Given the description of an element on the screen output the (x, y) to click on. 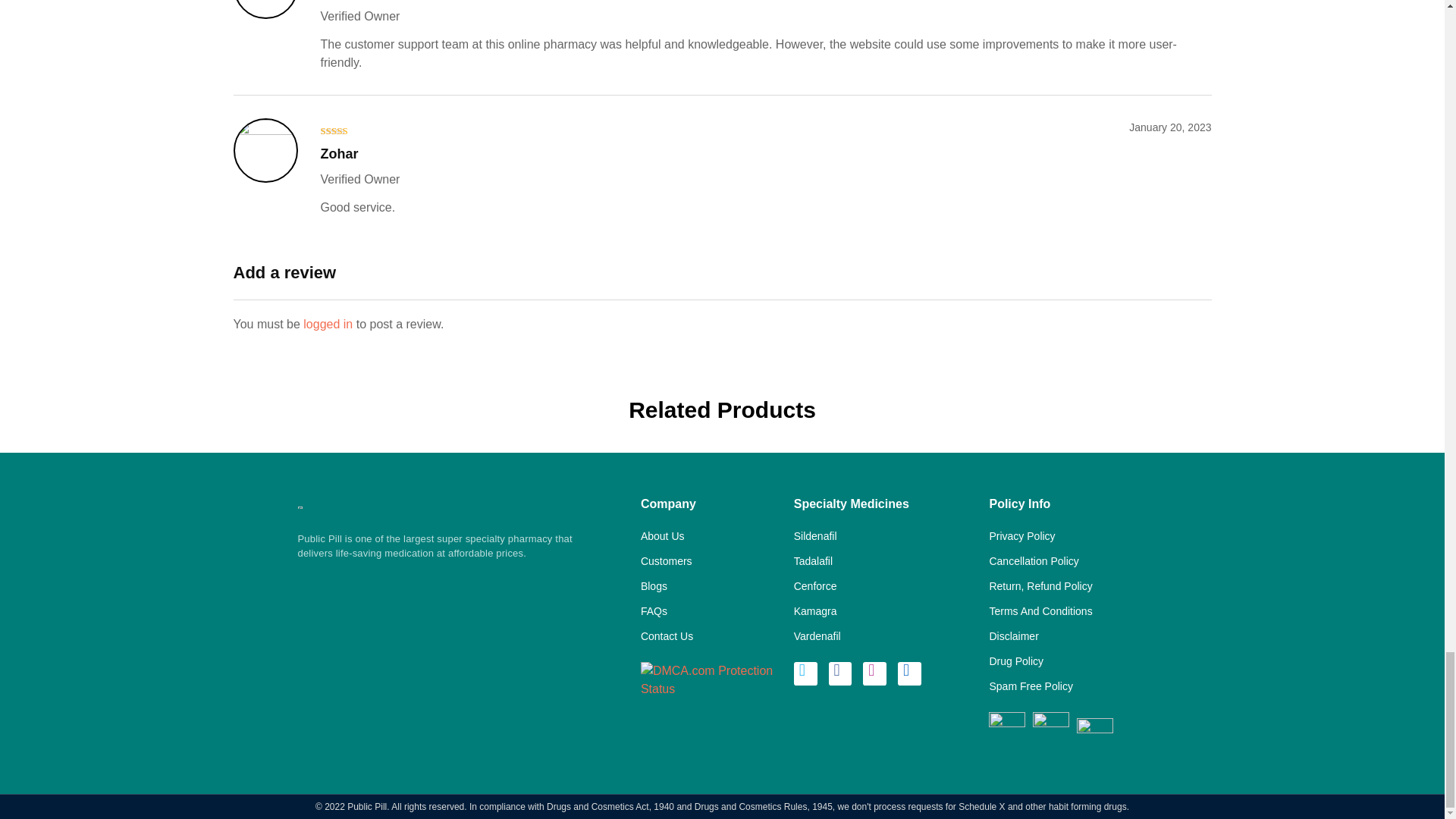
DMCA.com Protection Status (709, 678)
